Given the description of an element on the screen output the (x, y) to click on. 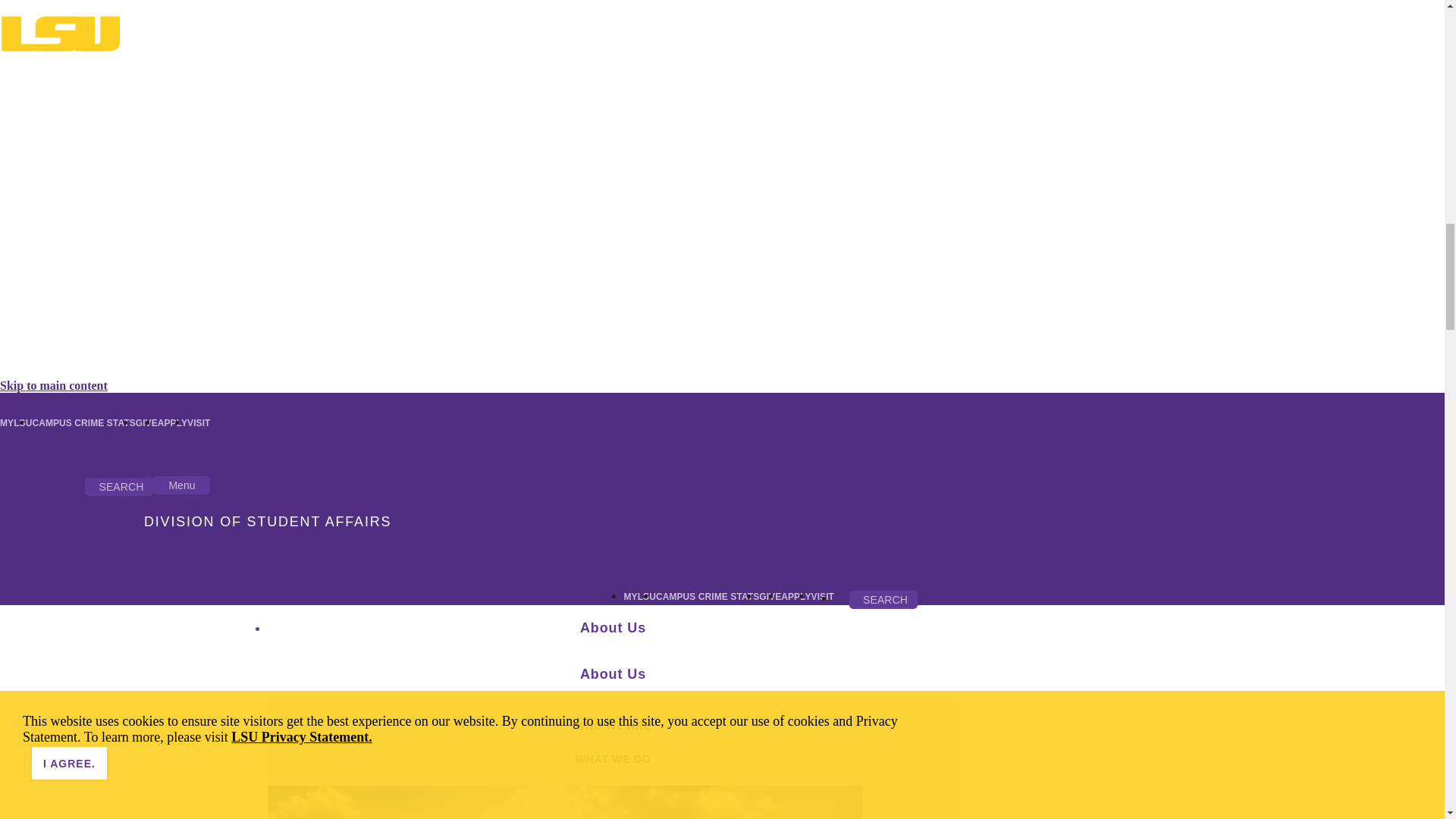
About Us (612, 628)
DIVISION OF STUDENT AFFAIRS (267, 521)
WHO WE ARE (612, 725)
Visit giveLSU.org (769, 596)
SEARCH (882, 599)
Skip to main content (53, 385)
CAMPUS CRIME STATS (83, 422)
About Us (612, 674)
WHAT WE DO (612, 759)
MYLSU (640, 596)
GIVE (769, 596)
VISIT (198, 422)
CAMPUS CRIME STATS (707, 596)
APPLY (795, 596)
SEARCH (118, 486)
